Given the description of an element on the screen output the (x, y) to click on. 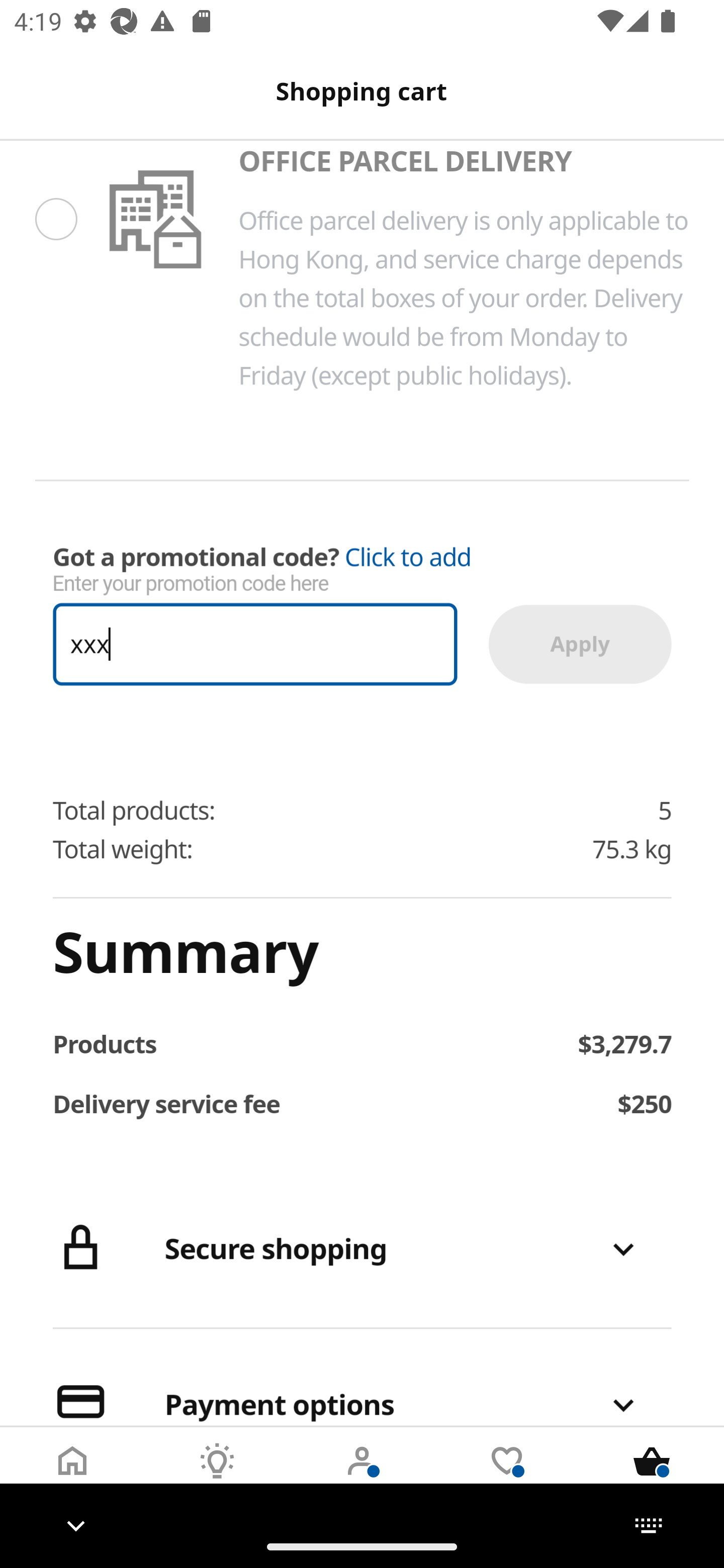
Click to add (408, 557)
Home
Tab 1 of 5 (72, 1476)
Inspirations
Tab 2 of 5 (216, 1476)
User
Tab 3 of 5 (361, 1476)
Wishlist
Tab 4 of 5 (506, 1476)
Cart
Tab 5 of 5 (651, 1476)
